Given the description of an element on the screen output the (x, y) to click on. 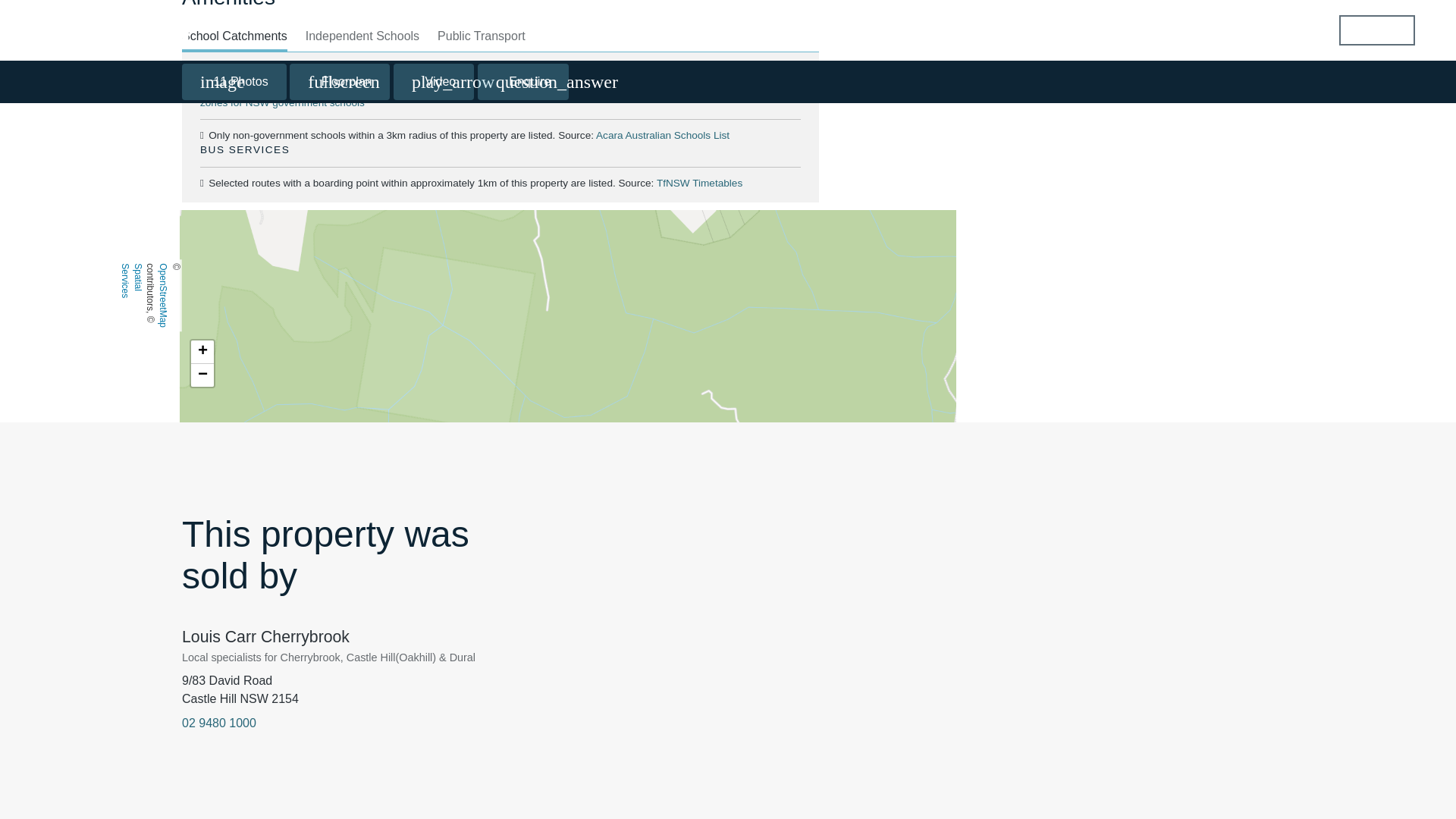
School Catchments (234, 36)
Independent Schools (362, 36)
School intake zones for NSW government schools (486, 96)
Zoom out (202, 374)
Zoom in (202, 351)
